Given the description of an element on the screen output the (x, y) to click on. 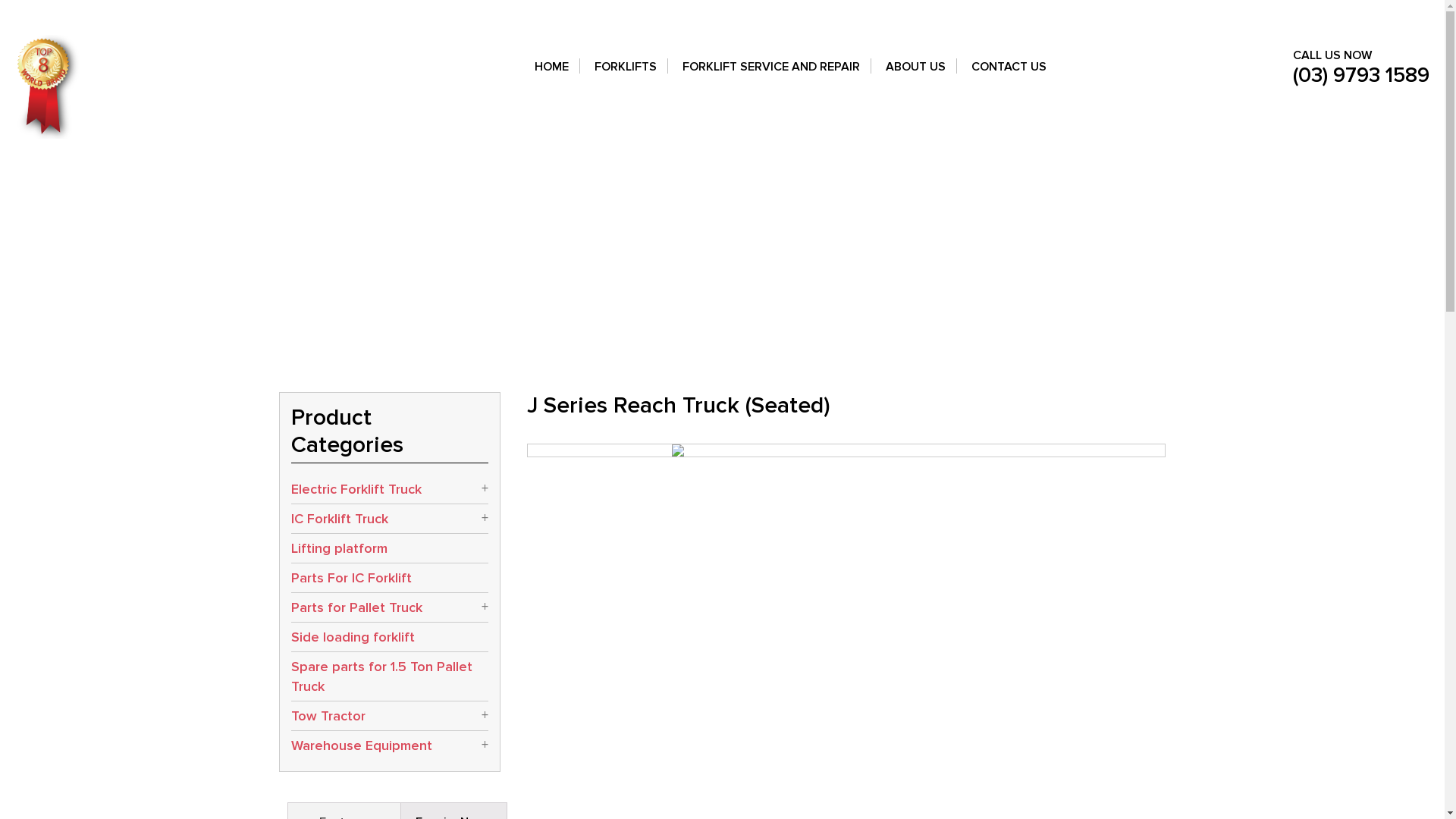
Spare parts for 1.5 Ton Pallet Truck Element type: text (390, 676)
Warehouse Equipment Element type: text (390, 745)
Facebook Element type: hover (1093, 17)
HANGCHA FORKLIFTS Element type: text (132, 65)
ABOUT US Element type: text (915, 75)
HOME Element type: text (551, 75)
Side loading forklift Element type: text (390, 636)
Parts For IC Forklift Element type: text (390, 577)
FORKLIFT SERVICE AND REPAIR Element type: text (770, 75)
FORKLIFTS Element type: text (625, 75)
Electric Forklift Truck Element type: text (390, 488)
Parts for Pallet Truck Element type: text (390, 607)
twitter Element type: hover (1113, 17)
IC Forklift Truck Element type: text (390, 518)
pinterest Element type: hover (1152, 17)
CONTACT US Element type: text (1008, 75)
linkedin Element type: hover (1132, 17)
(03) 9793 1589 Element type: text (1360, 74)
Tow Tractor Element type: text (390, 715)
Lifting platform Element type: text (390, 547)
